Given the description of an element on the screen output the (x, y) to click on. 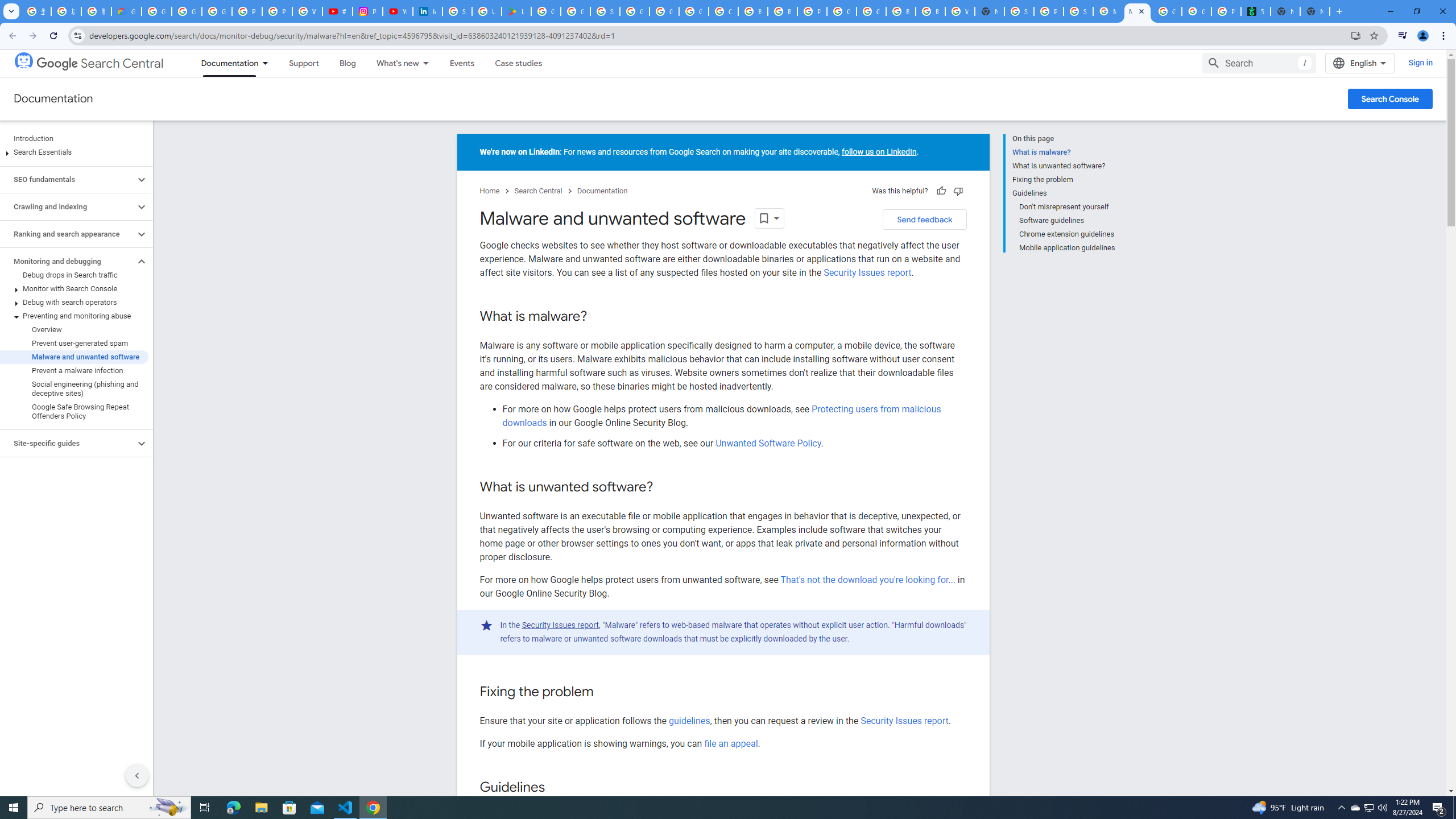
What is unwanted software? (1063, 165)
Guidelines (1063, 192)
follow us on LinkedIn (879, 152)
Privacy Help Center - Policies Help (277, 11)
Don't misrepresent yourself (1067, 206)
Introduction (74, 138)
SEO fundamentals (67, 179)
